Given the description of an element on the screen output the (x, y) to click on. 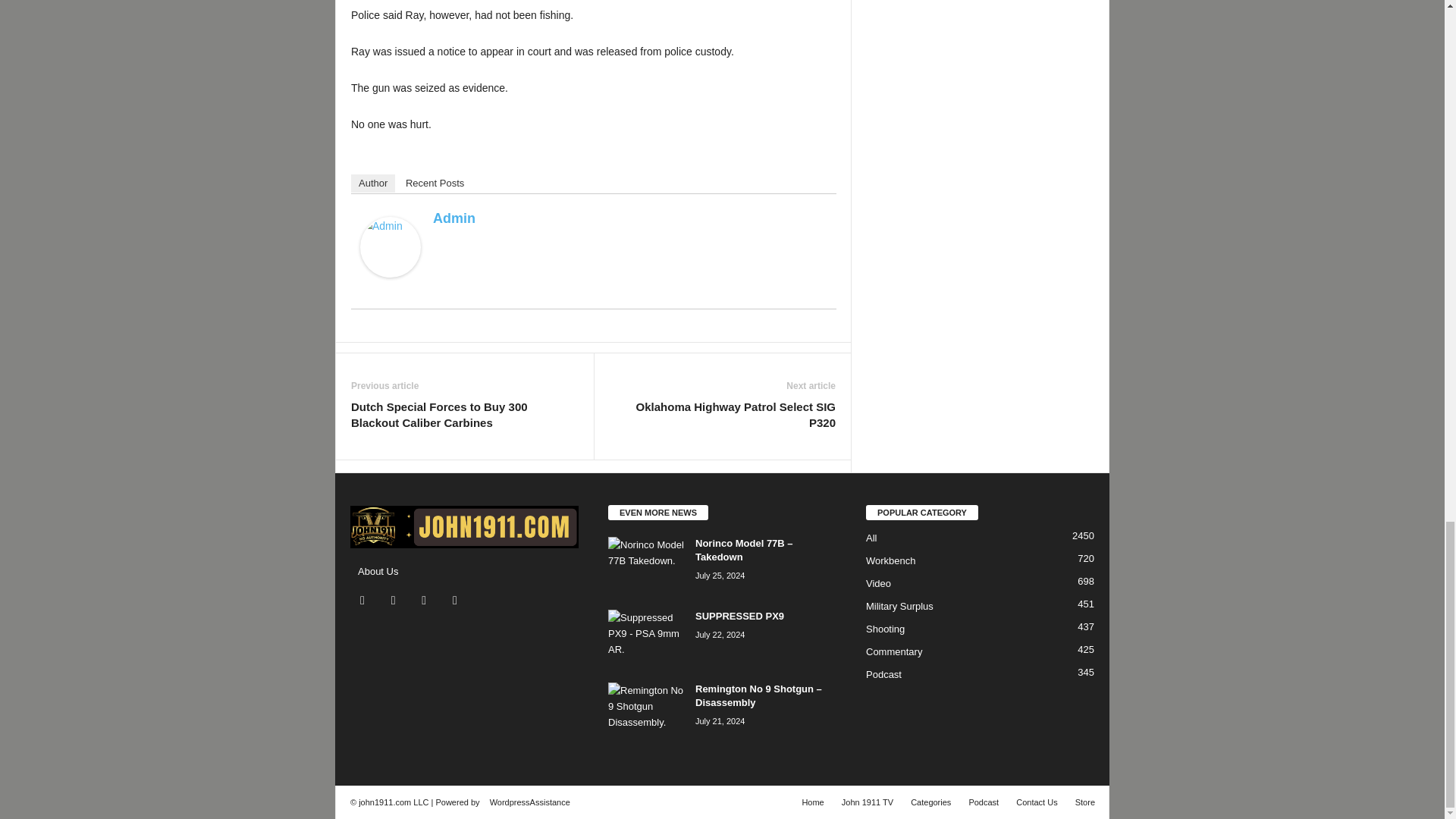
Admin (389, 247)
